Given the description of an element on the screen output the (x, y) to click on. 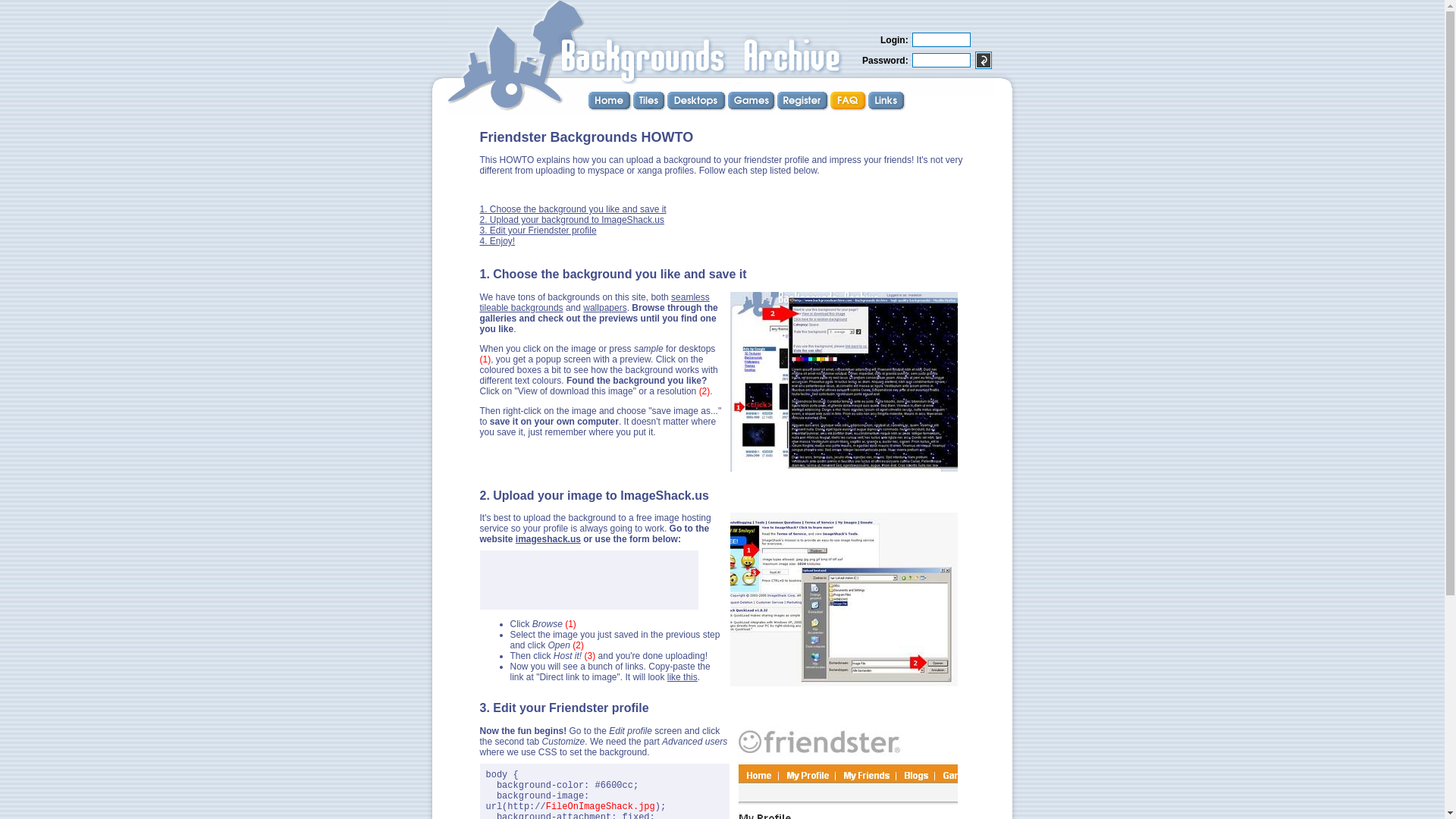
imageshack.us (547, 538)
seamless tileable backgrounds (594, 301)
2. Upload your background to ImageShack.us (571, 219)
1. Choose the background you like and save it (572, 208)
4. Enjoy! (497, 240)
Advertisement (656, 190)
wallpapers (604, 307)
like this (681, 676)
3. Edit your Friendster profile (537, 230)
